Given the description of an element on the screen output the (x, y) to click on. 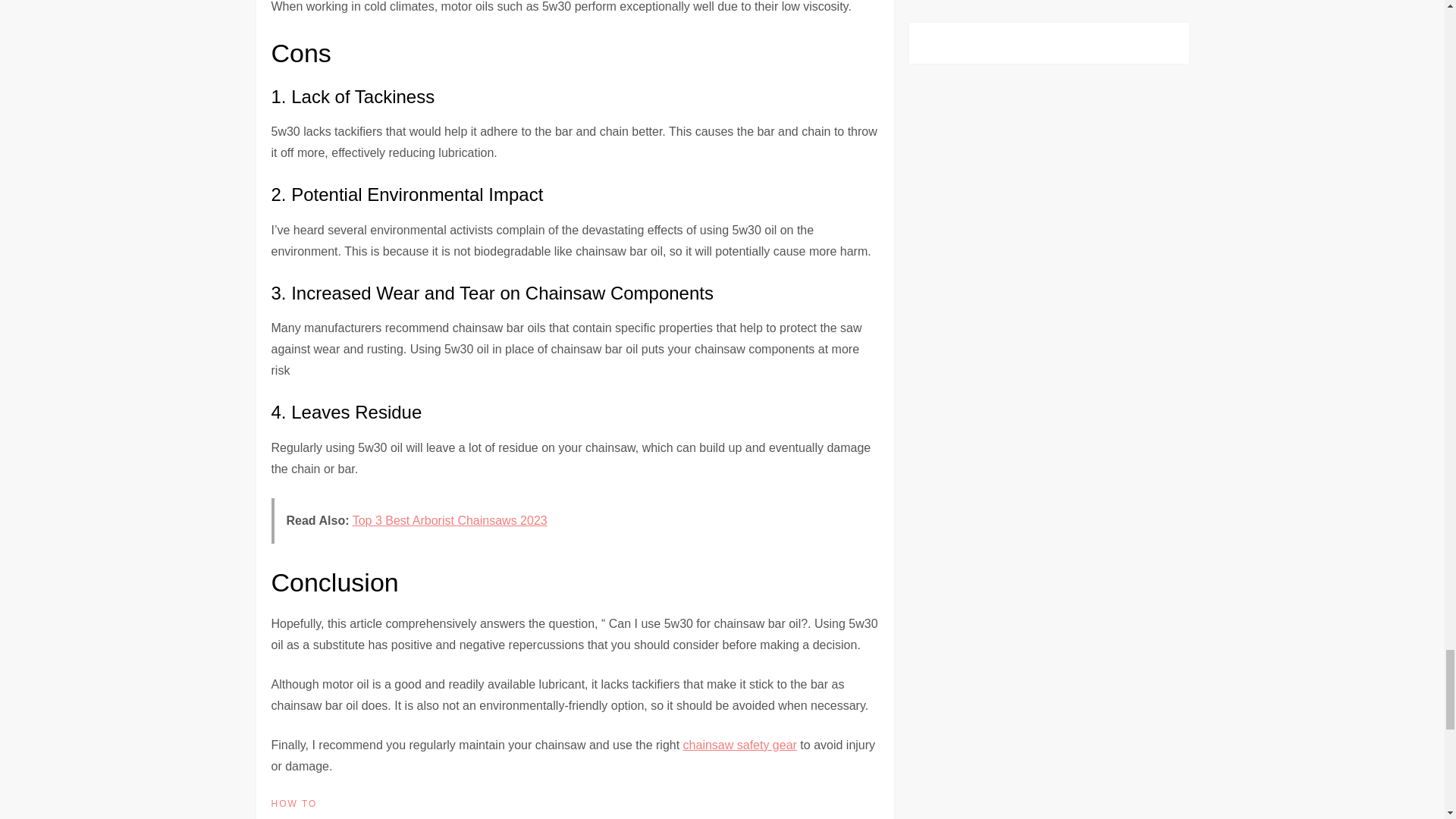
HOW TO (293, 803)
chainsaw safety gear (739, 744)
Top 3 Best Arborist Chainsaws 2023 (449, 520)
